Given the description of an element on the screen output the (x, y) to click on. 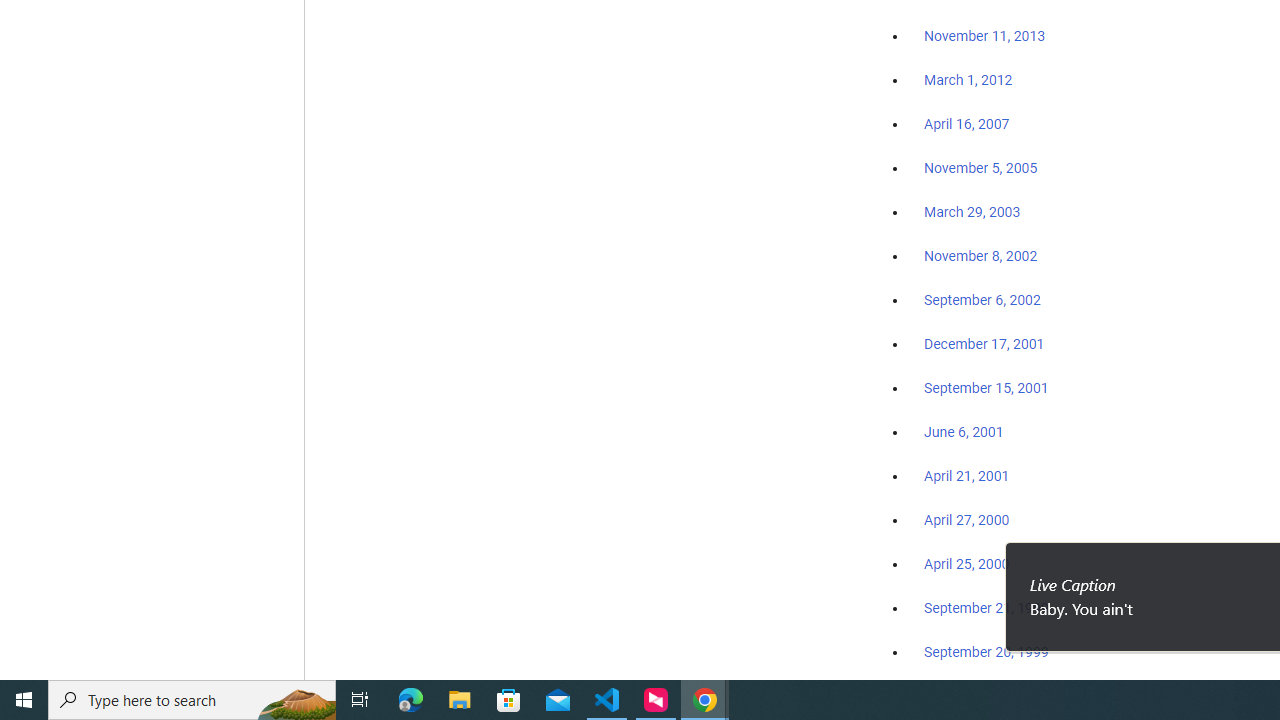
March 1, 2012 (968, 81)
June 6, 2001 (963, 431)
April 27, 2000 (966, 520)
September 21, 1999 (986, 608)
April 25, 2000 (966, 564)
September 6, 2002 (982, 299)
September 20, 1999 (986, 651)
April 21, 2001 (966, 476)
December 17, 2001 (984, 343)
September 15, 2001 (986, 387)
November 11, 2013 (984, 37)
November 5, 2005 (981, 168)
March 29, 2003 (972, 212)
November 8, 2002 (981, 255)
April 16, 2007 (966, 124)
